Given the description of an element on the screen output the (x, y) to click on. 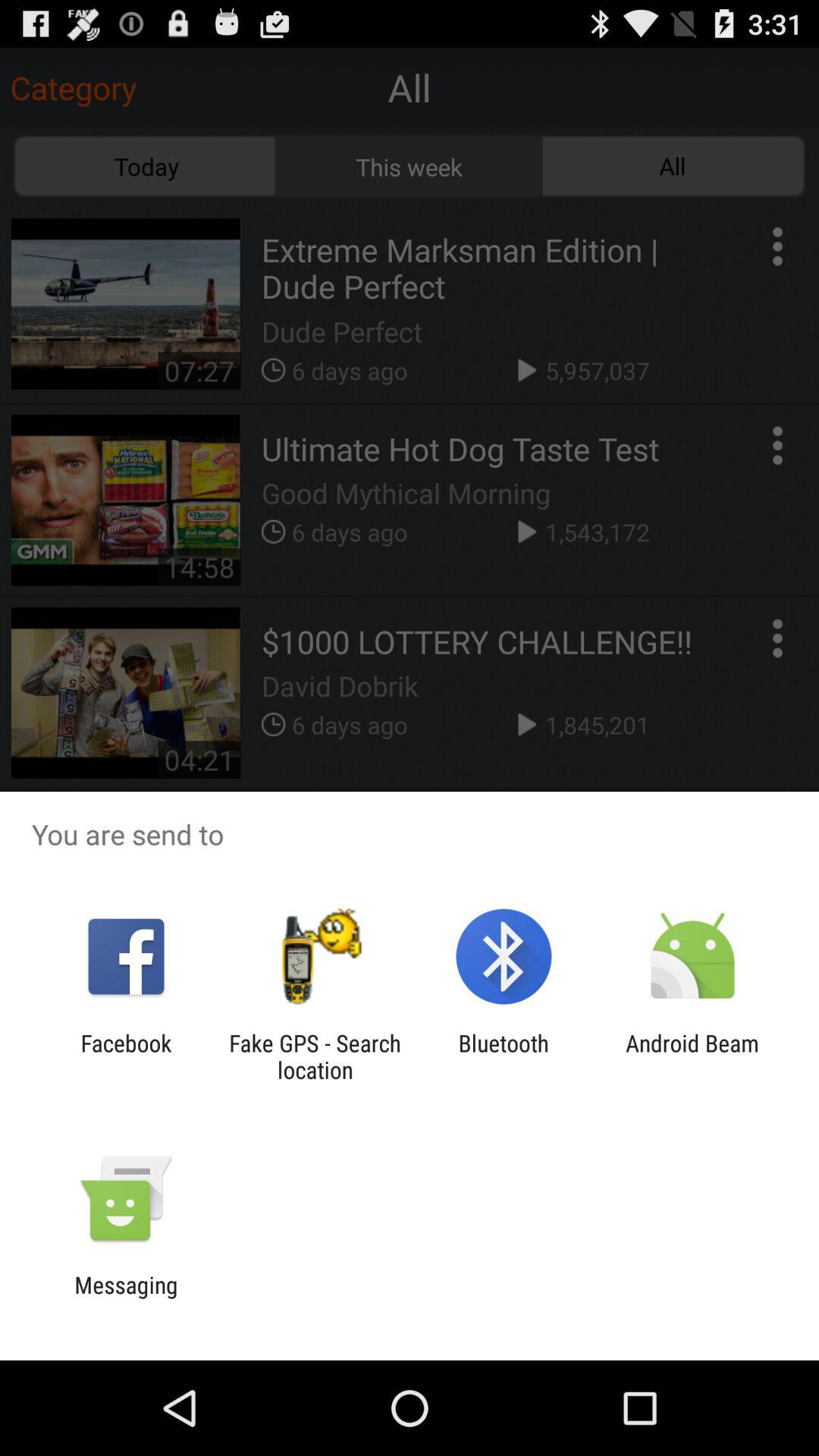
tap item next to bluetooth app (314, 1056)
